Given the description of an element on the screen output the (x, y) to click on. 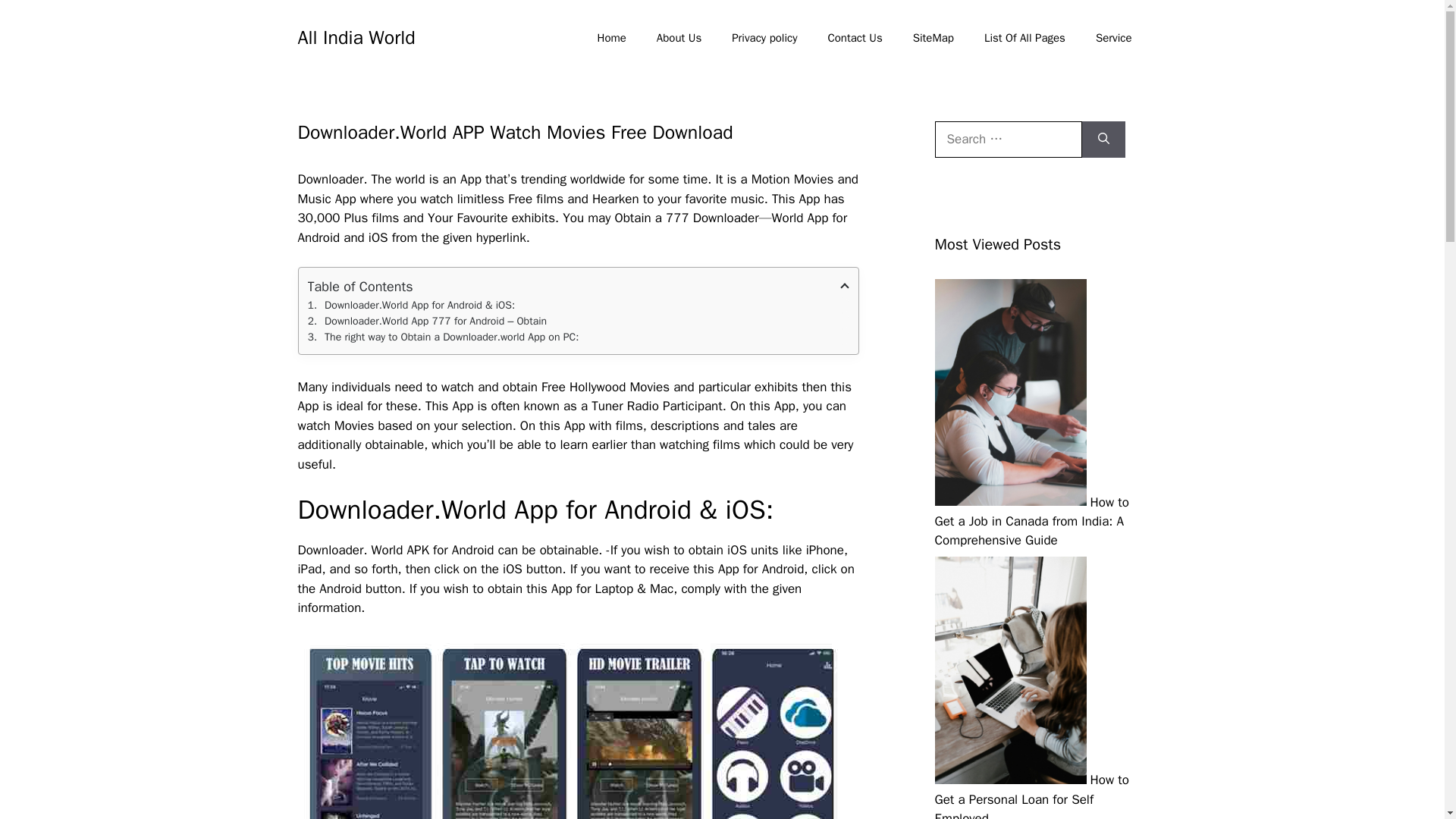
How to Get a Personal Loan for Self Employed (1031, 795)
SiteMap (933, 37)
List Of All Pages (1024, 37)
Privacy policy (764, 37)
The right way to Obtain a Downloader.world App on PC: (577, 336)
How to Get a Job in Canada from India: A Comprehensive Guide (1031, 520)
About Us (679, 37)
Contact Us (854, 37)
Search for: (1007, 139)
Home (612, 37)
Service (1113, 37)
All India World (355, 37)
